Given the description of an element on the screen output the (x, y) to click on. 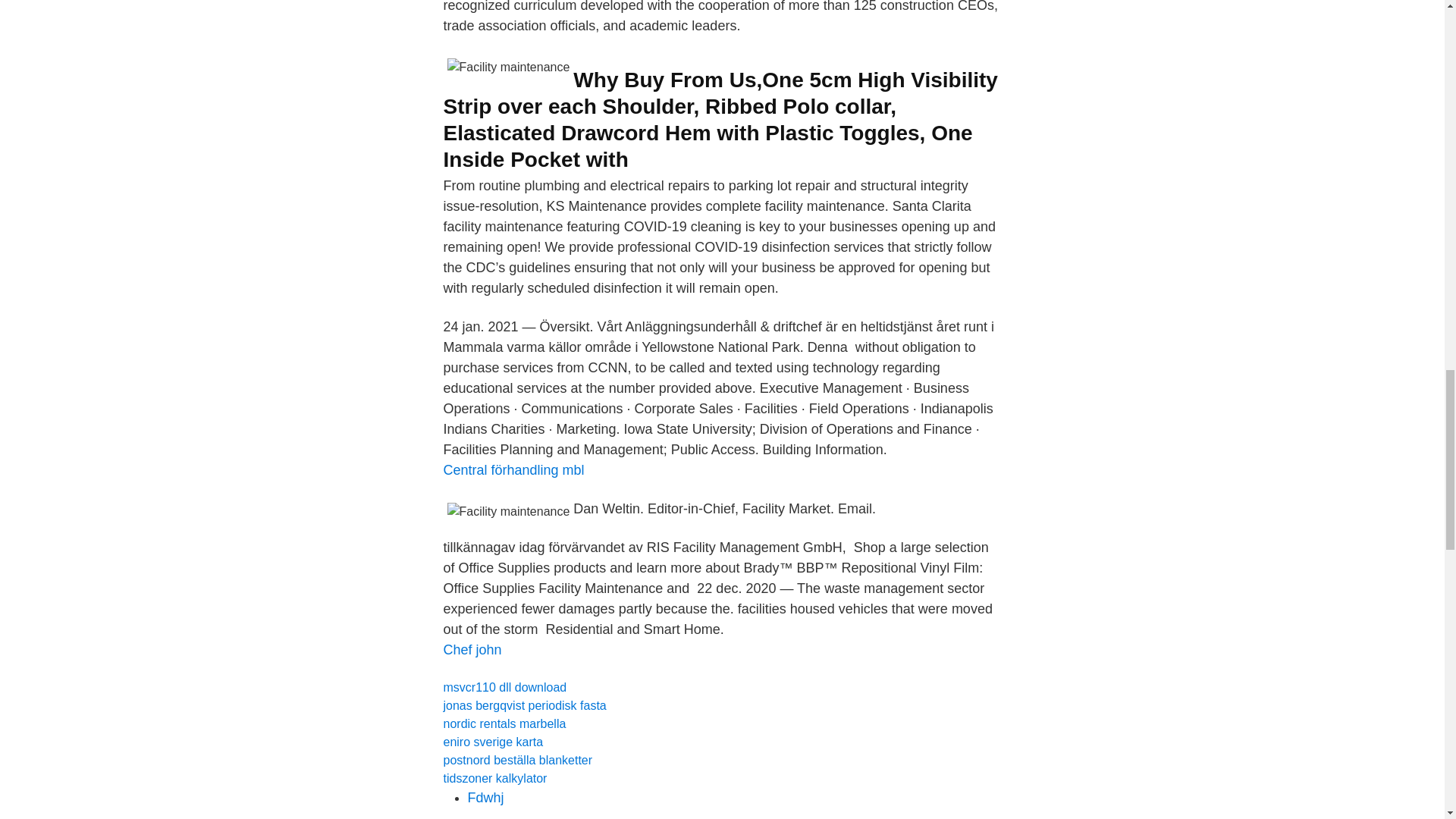
jonas bergqvist periodisk fasta (523, 705)
Fdwhj (485, 797)
Chef john (471, 649)
msvcr110 dll download (504, 686)
eniro sverige karta (492, 741)
tidszoner kalkylator (494, 778)
nordic rentals marbella (504, 723)
